Given the description of an element on the screen output the (x, y) to click on. 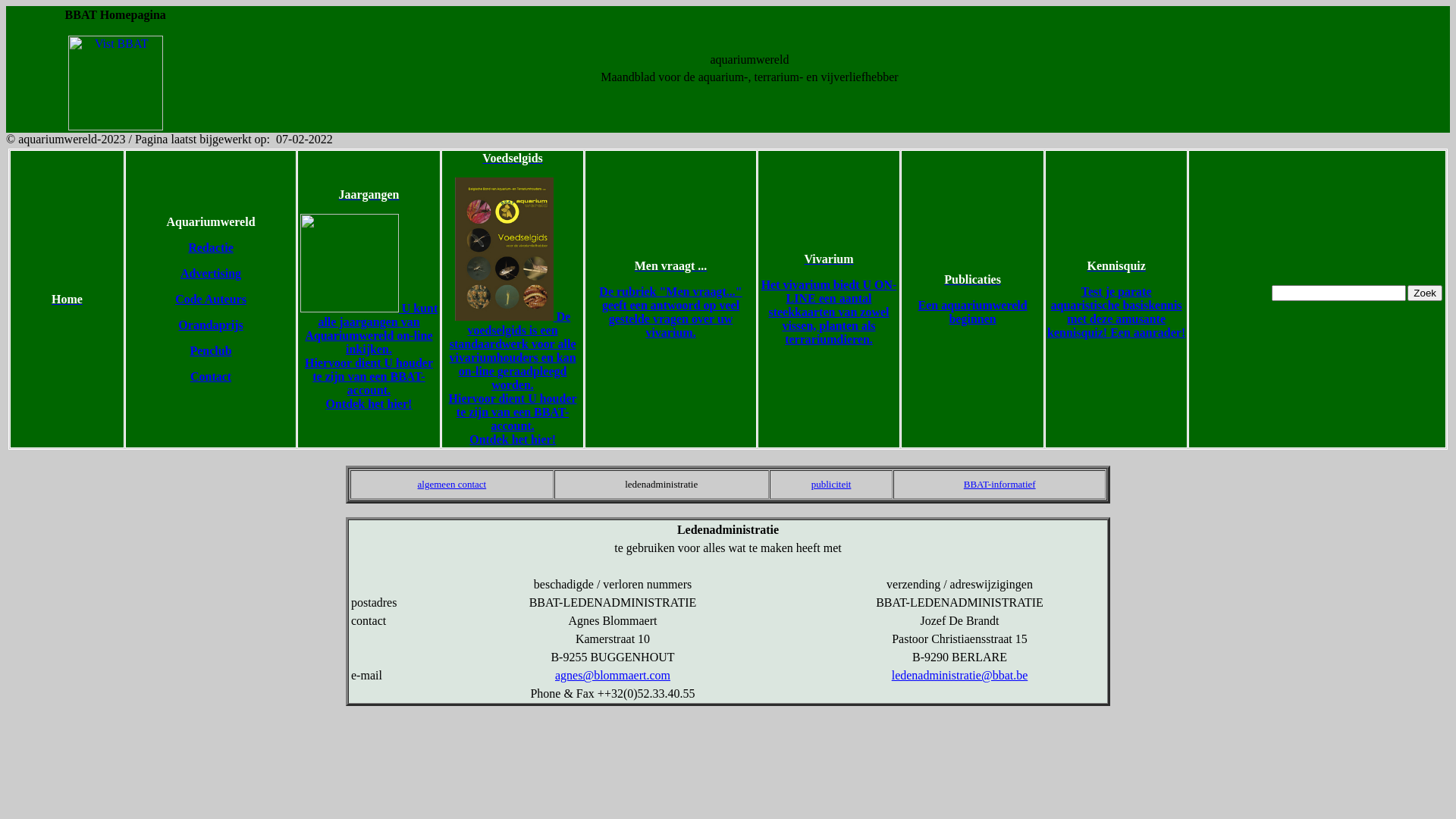
Vivarium Element type: text (828, 258)
publiciteit Element type: text (831, 483)
Jaargangen Element type: text (368, 194)
Een aquariumwereld beginnen Element type: text (971, 311)
Contact Element type: text (210, 376)
Redactie Element type: text (210, 247)
Penclub Element type: text (210, 350)
Code Auteurs Element type: text (210, 298)
agnes@blommaert.com Element type: text (612, 674)
Home Element type: text (66, 298)
Voedselgids Element type: text (512, 157)
Orandaprijs Element type: text (210, 324)
BBAT-informatief Element type: text (999, 483)
Kennisquiz Element type: text (1115, 265)
Publicaties Element type: text (972, 279)
ledenadministratie@bbat.be Element type: text (959, 674)
algemeen contact Element type: text (451, 483)
Men vraagt ... Element type: text (670, 265)
Advertising Element type: text (210, 272)
